Given the description of an element on the screen output the (x, y) to click on. 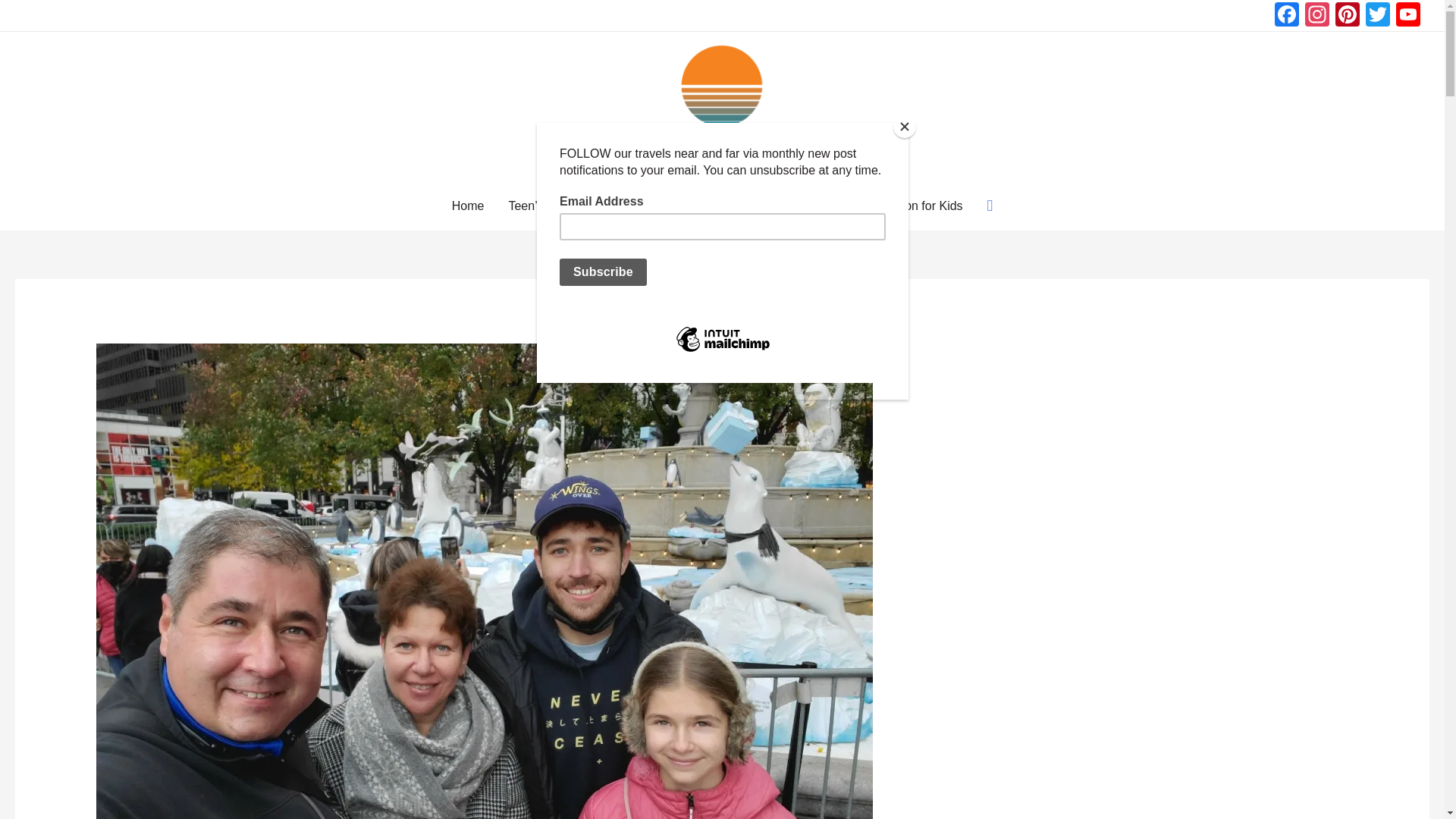
Pinterest (1347, 16)
Pinterest (1347, 16)
Home (467, 205)
Boston (620, 205)
Twitter (1377, 16)
YouTube Channel (1408, 16)
Destinations (708, 205)
Instagram (1316, 16)
Facebook (1286, 16)
Home (467, 205)
Instagram (1316, 16)
Twitter (1377, 16)
YouTube Channel (1408, 16)
Facebook (1286, 16)
